Given the description of an element on the screen output the (x, y) to click on. 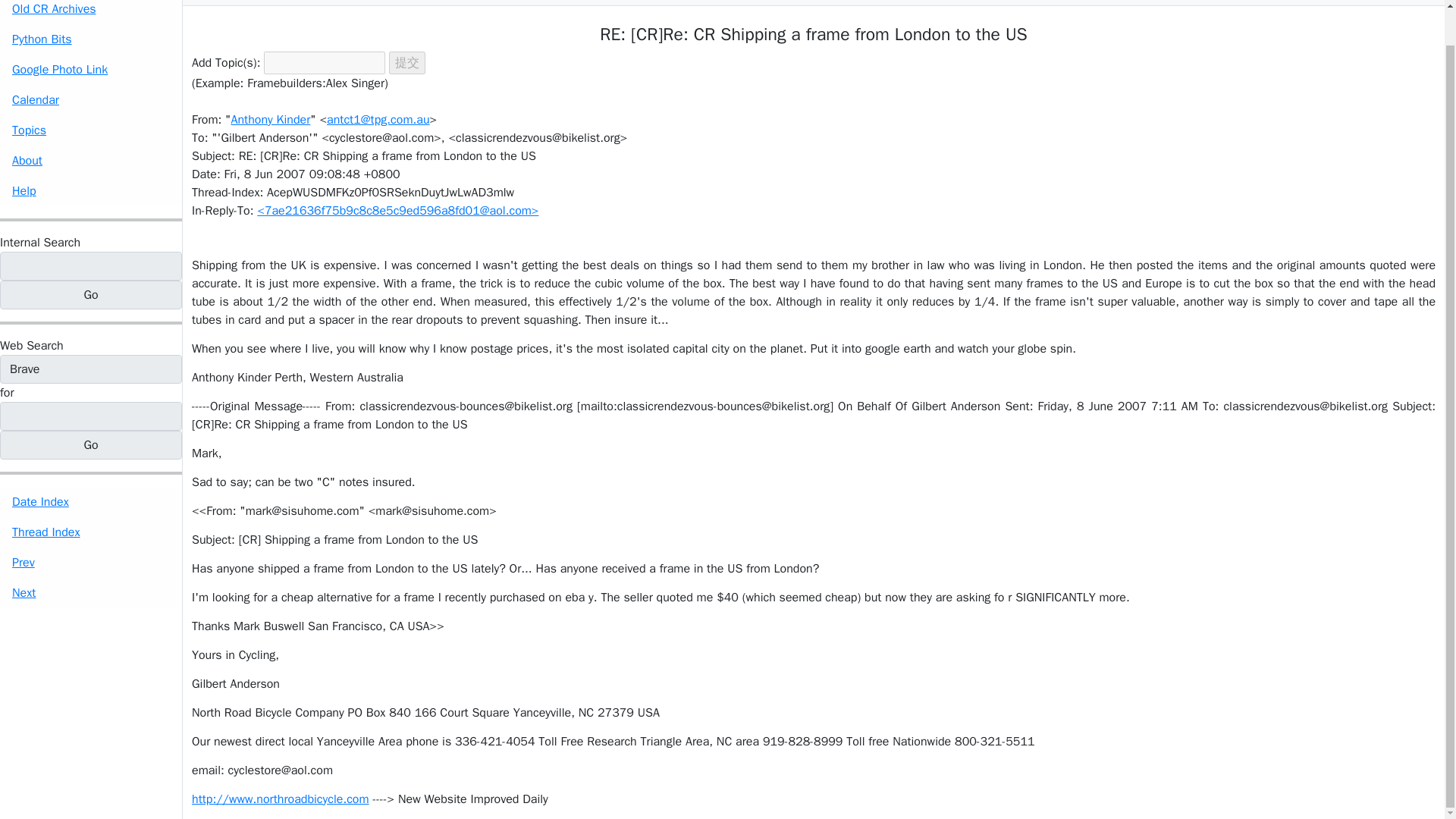
Select your preferred search engine and enter a search term. (32, 345)
Calendar (91, 100)
Date Index (91, 501)
Next (91, 593)
Anthony Kinder (270, 119)
Python Bits (91, 39)
Google Photo Link (91, 69)
Help (91, 191)
Thread Index (91, 531)
Go (91, 294)
Topics (91, 130)
Go (91, 444)
Old CR Archives (91, 12)
Go (91, 294)
Enter a word or phrase to search the archive. (40, 242)
